Given the description of an element on the screen output the (x, y) to click on. 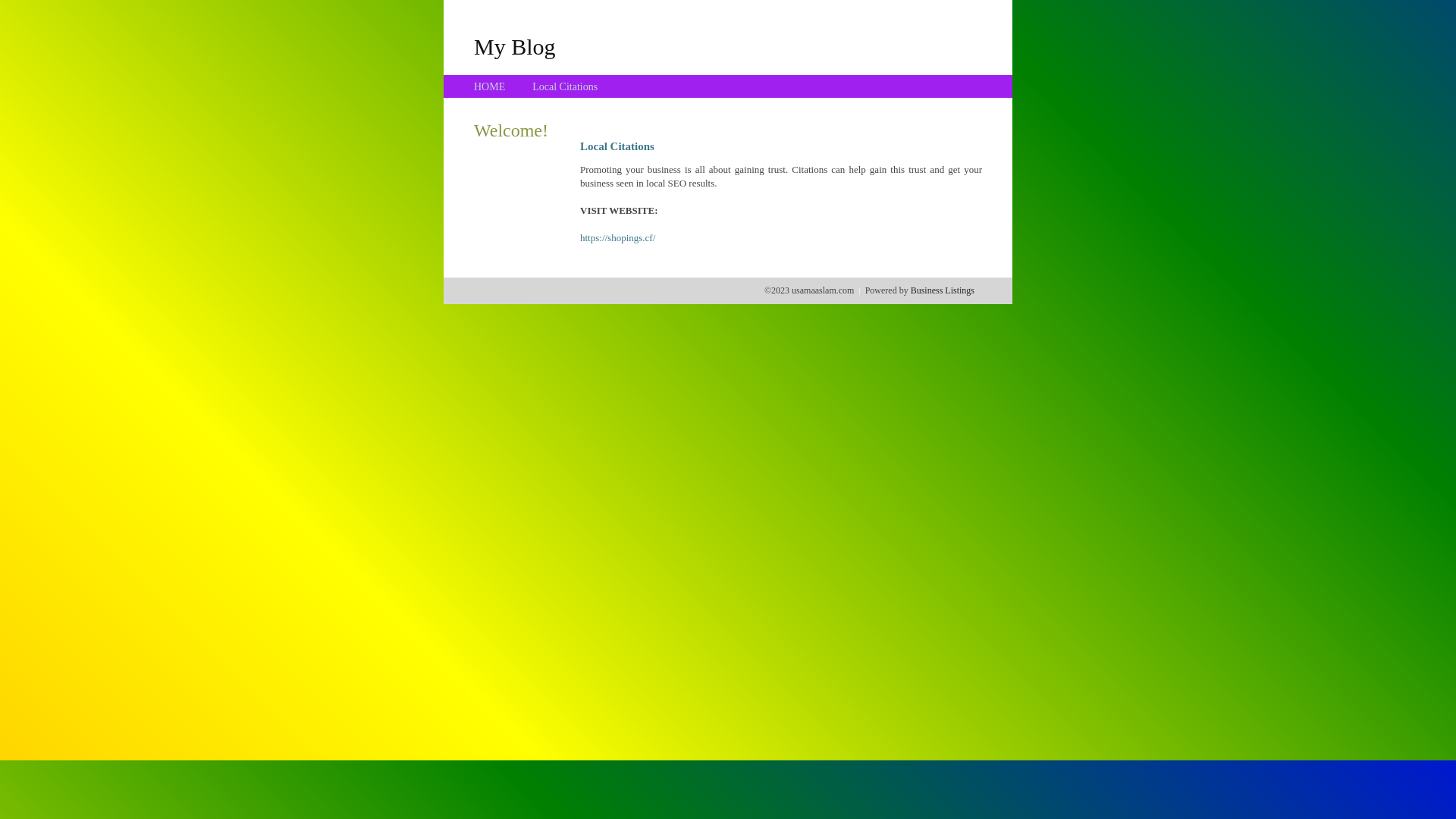
https://shopings.cf/ Element type: text (617, 237)
My Blog Element type: text (514, 46)
Business Listings Element type: text (942, 290)
Local Citations Element type: text (564, 86)
HOME Element type: text (489, 86)
